Given the description of an element on the screen output the (x, y) to click on. 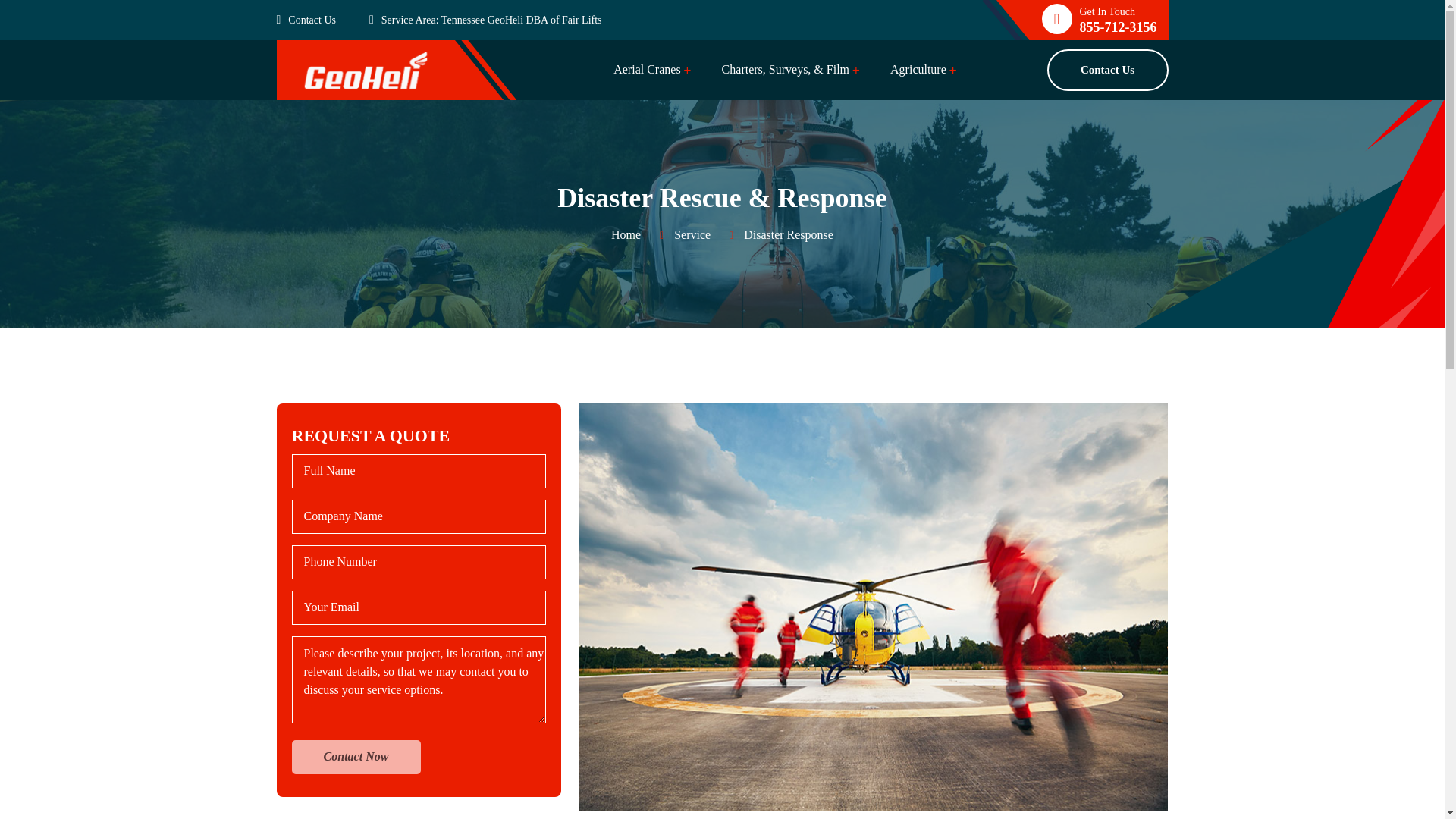
Aerial Ag Spraying (984, 115)
Contact Us (1106, 69)
Contact Now (355, 756)
Fair Lifts (580, 19)
Contact Us (320, 19)
Home (625, 234)
Service (692, 234)
Aerial Cranes (645, 80)
Agriculture (917, 80)
